Given the description of an element on the screen output the (x, y) to click on. 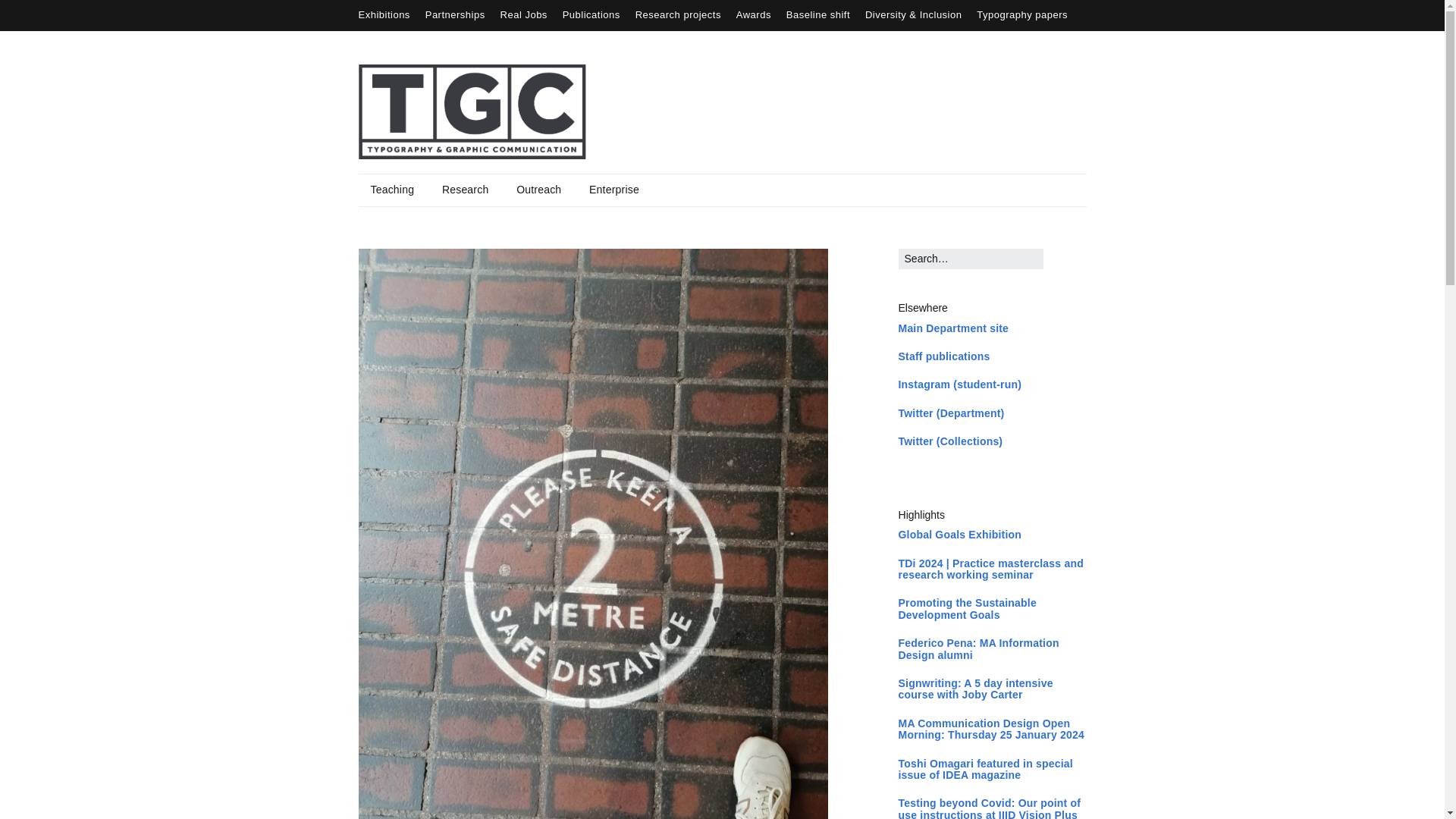
Signwriting: A 5 day intensive course with Joby Carter (975, 689)
Main Department site (953, 328)
Staff publications (944, 356)
Partnerships (454, 14)
Publications (591, 14)
Federico Pena: MA Information Design alumni (978, 648)
Promoting the Sustainable Development Goals (967, 608)
Awards (753, 14)
Toshi Omagari featured in special issue of IDEA magazine (985, 769)
Research (464, 190)
Exhibitions (383, 14)
Typography papers (1021, 14)
